Given the description of an element on the screen output the (x, y) to click on. 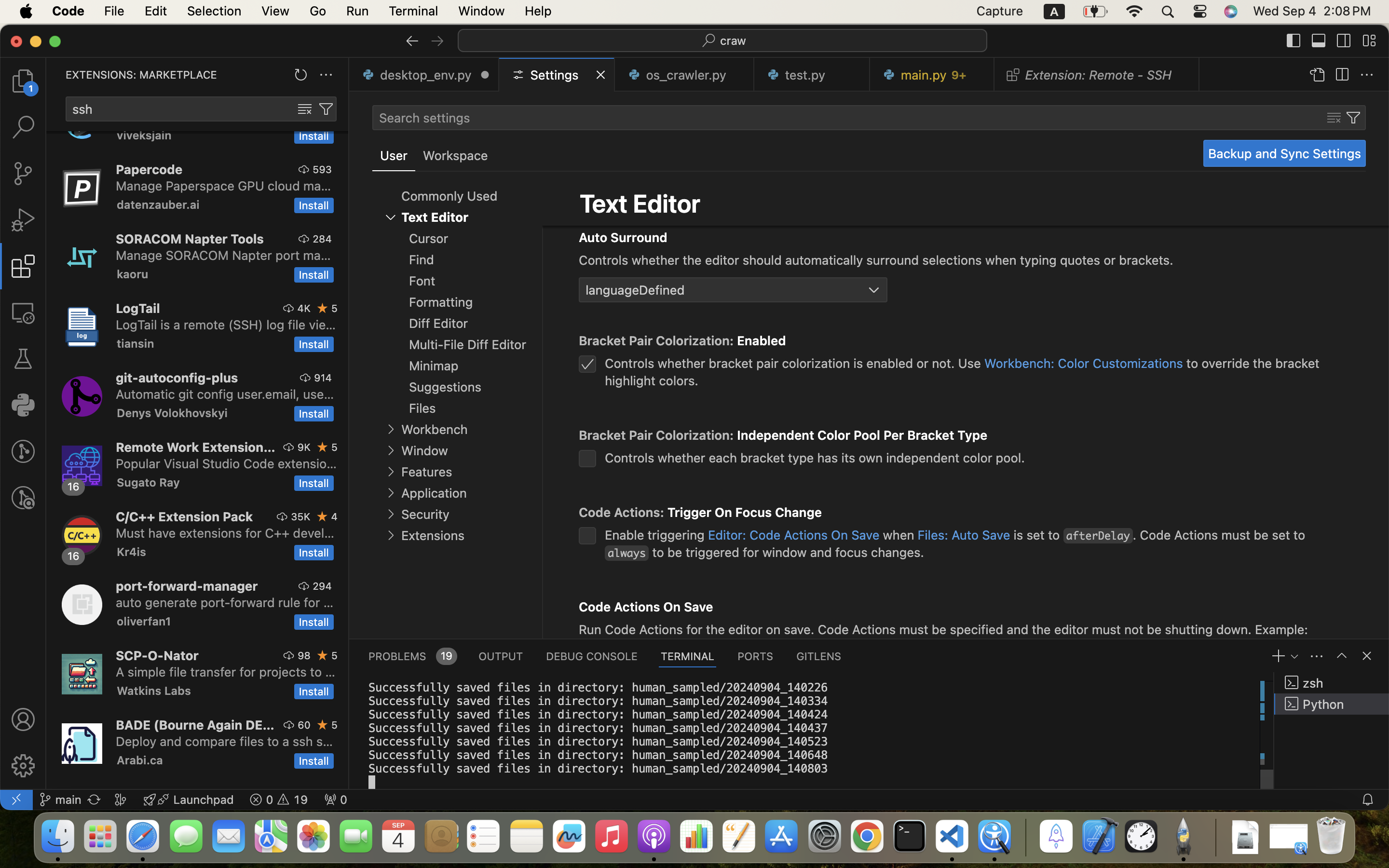
0 os_crawler.py   Element type: AXRadioButton (684, 74)
 Element type: AXCheckBox (1318, 40)
1 Element type: AXRadioButton (393, 155)
LogTail Element type: AXStaticText (137, 307)
 Element type: AXCheckBox (1341, 655)
